Given the description of an element on the screen output the (x, y) to click on. 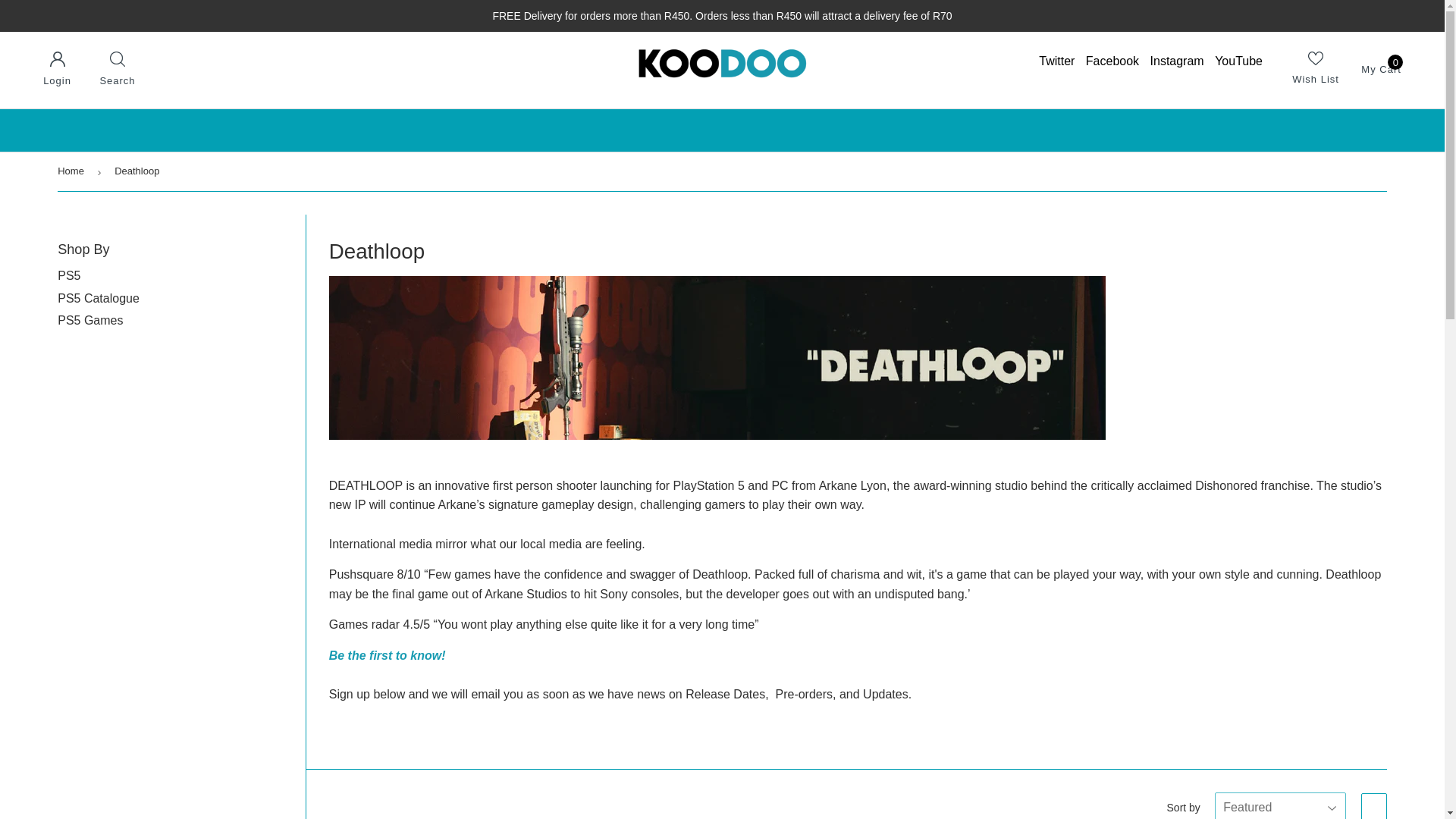
KOODOO on Twitter (1056, 60)
YouTube (1238, 60)
Facebook (1112, 60)
Show products matching tag PS5 (69, 275)
KOODOO on Instagram (1177, 60)
Wish List (1315, 68)
KOODOO on Facebook (1112, 60)
KOODOO on YouTube (1238, 60)
Show products matching tag PS5 Catalogue (1380, 68)
